Given the description of an element on the screen output the (x, y) to click on. 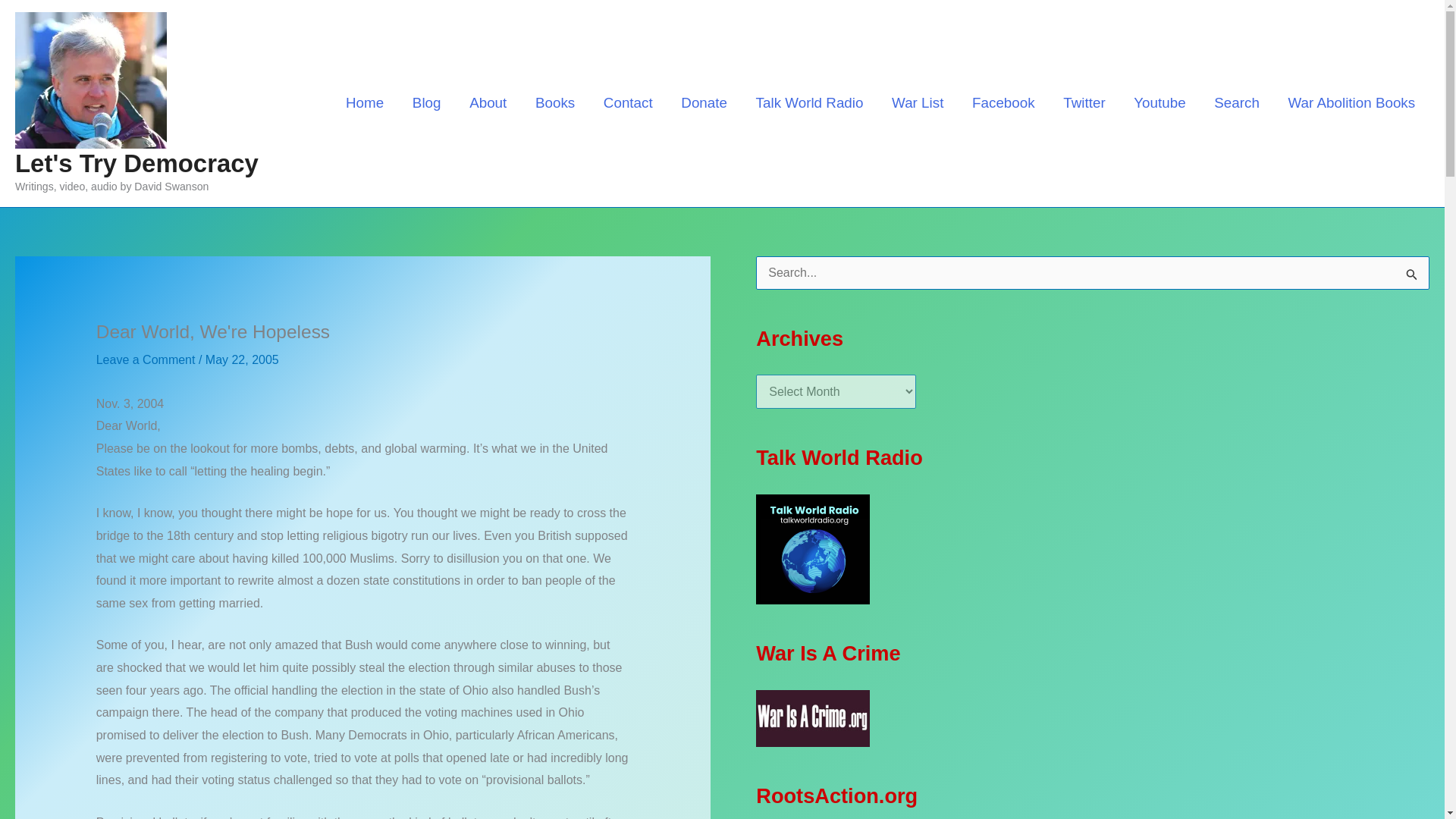
Let's Try Democracy (136, 163)
Blog (425, 102)
War List (917, 102)
War Abolition Books (1351, 102)
About (487, 102)
Talk World Radio (809, 102)
Books (555, 102)
Youtube (1159, 102)
Search (1235, 102)
Twitter (1083, 102)
